Given the description of an element on the screen output the (x, y) to click on. 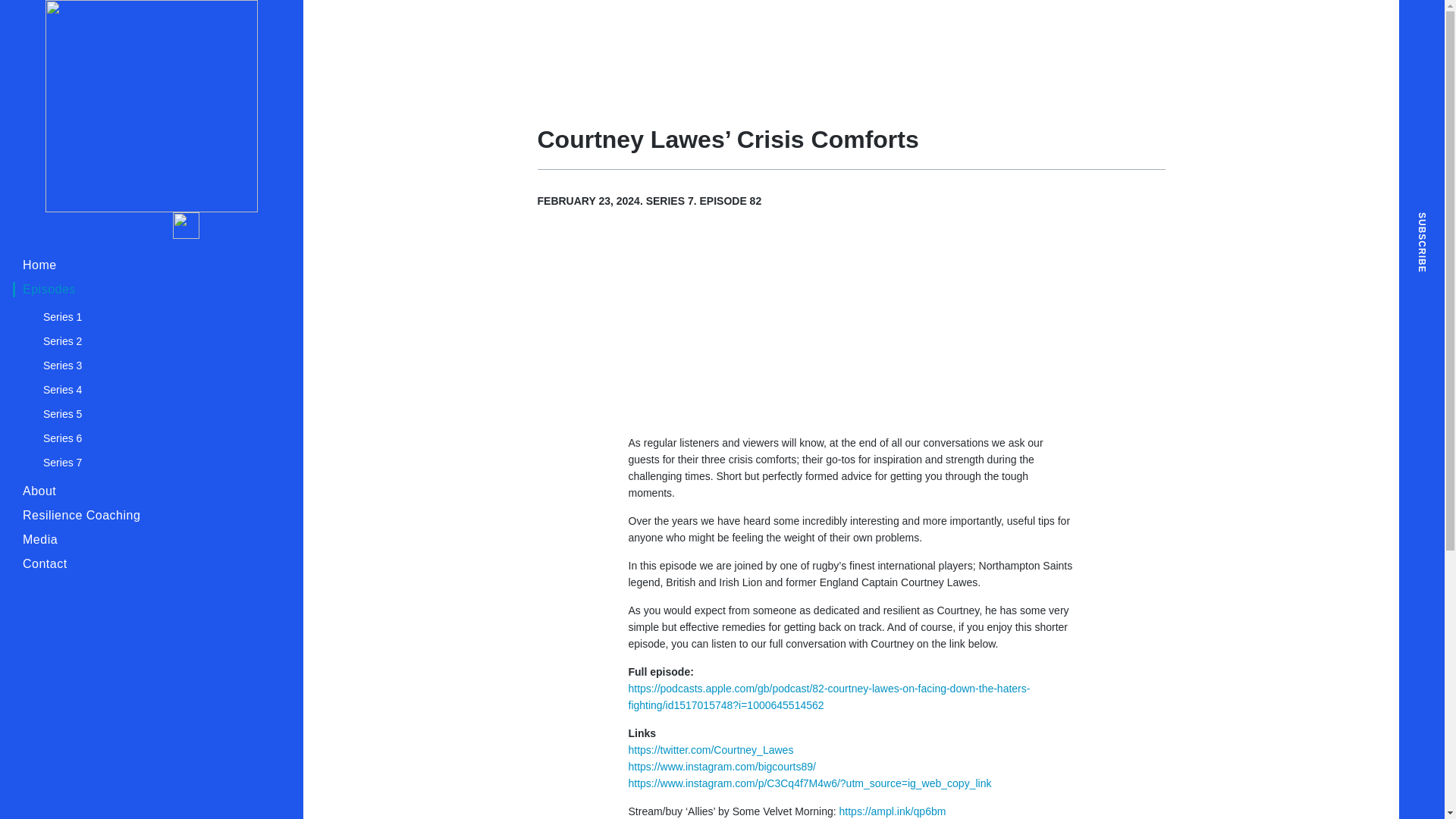
Series 2 (149, 340)
Series 7 (149, 462)
About (141, 491)
Crisis What Crisis? Hosted by Andy Coulson (151, 106)
Episodes (141, 289)
Series 6 (149, 437)
Series 3 (149, 364)
Series 1 (149, 316)
Media (141, 539)
Home (141, 264)
Resilience Coaching (141, 515)
Series 4 (149, 389)
Series 5 (149, 413)
Contact (141, 563)
